Given the description of an element on the screen output the (x, y) to click on. 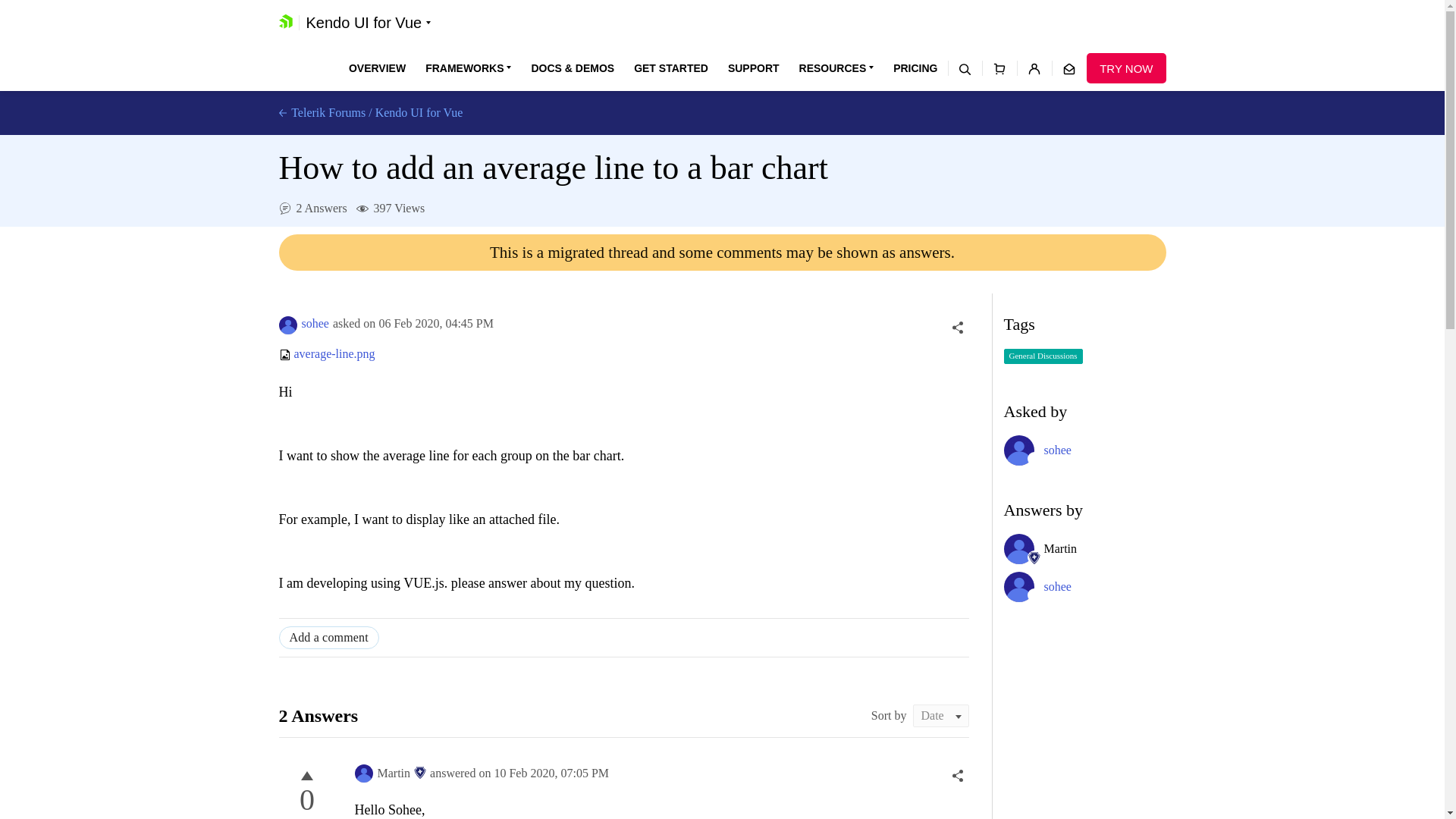
This answer is helpful. (306, 775)
General Discussions (1043, 355)
Shopping cart (998, 67)
Search (964, 67)
Your Account (1033, 67)
FRAMEWORKS (468, 67)
Contact Us (1068, 67)
OVERVIEW (377, 67)
Kendo UI for Vue (368, 22)
SKIP NAVIGATION (339, 7)
This answer is not helpful. (306, 816)
